Given the description of an element on the screen output the (x, y) to click on. 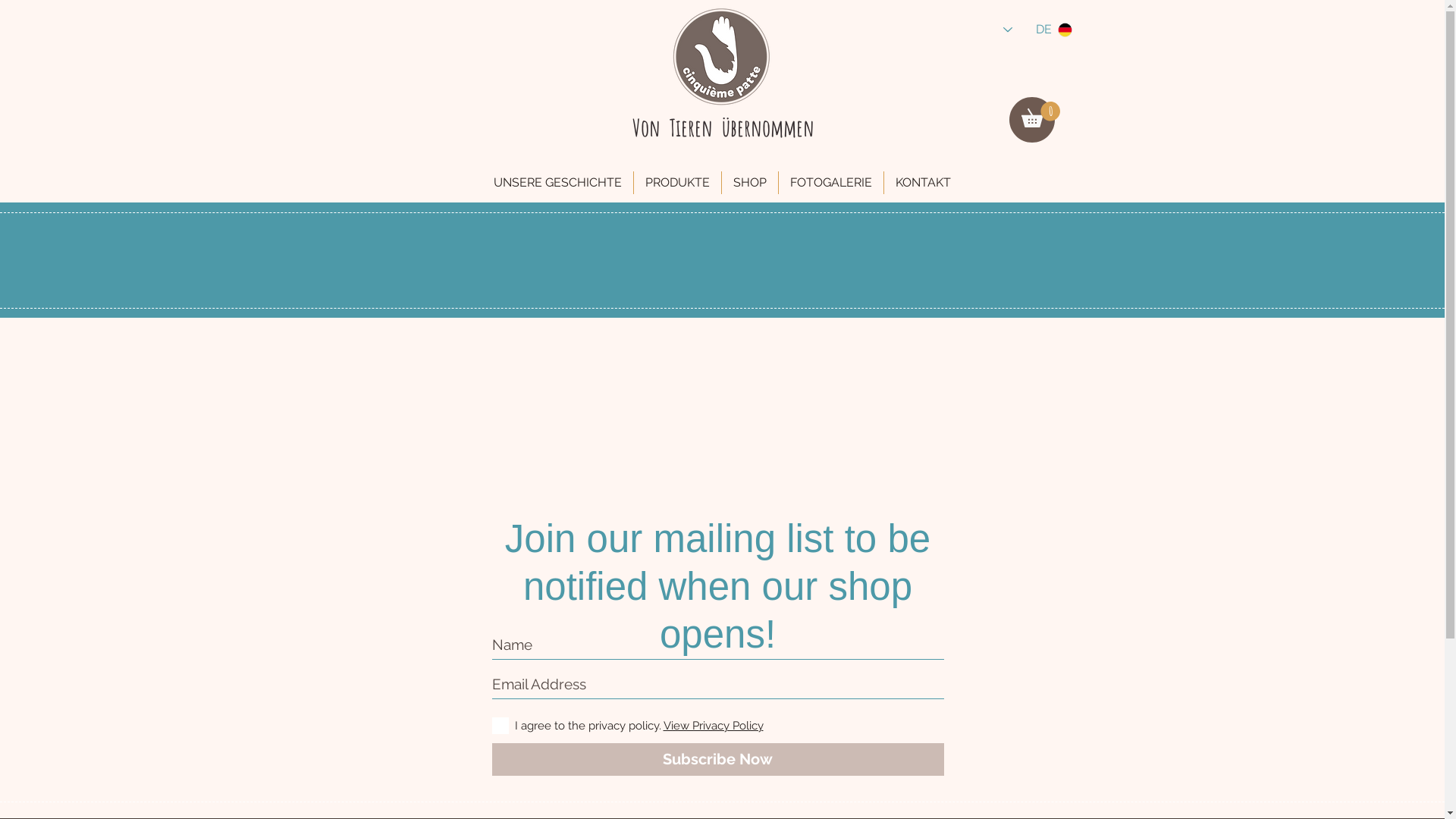
FOTOGALERIE Element type: text (830, 182)
Subscribe Now Element type: text (717, 759)
UNSERE GESCHICHTE Element type: text (557, 182)
SHOP Element type: text (749, 182)
0 Element type: text (1039, 114)
View Privacy Policy Element type: text (712, 725)
KONTAKT Element type: text (923, 182)
PRODUKTE Element type: text (677, 182)
